Given the description of an element on the screen output the (x, y) to click on. 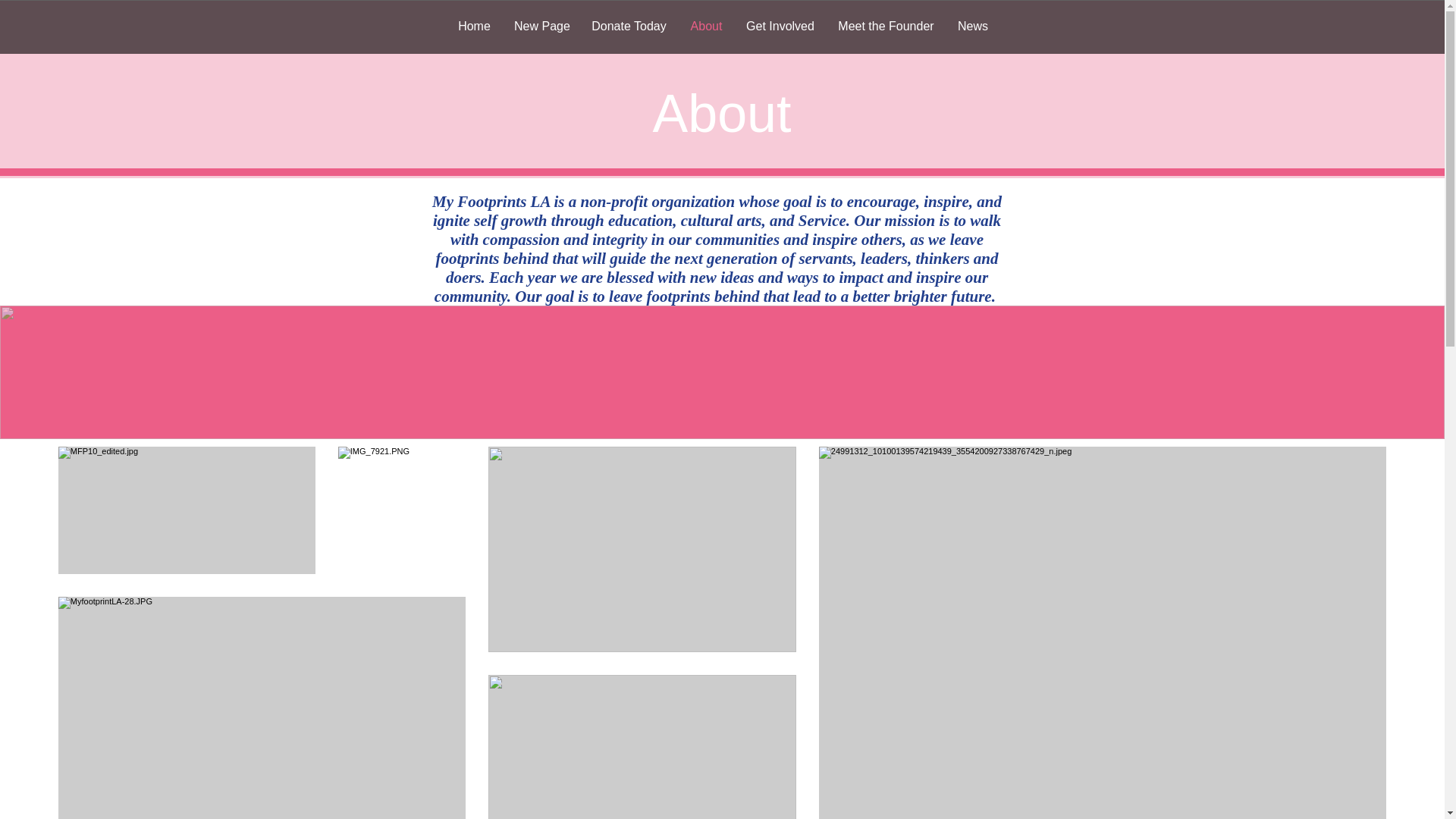
Get Involved (780, 26)
New Page (540, 26)
Donate Today (628, 26)
Home (473, 26)
Meet the Founder (885, 26)
About (706, 26)
News (972, 26)
